Given the description of an element on the screen output the (x, y) to click on. 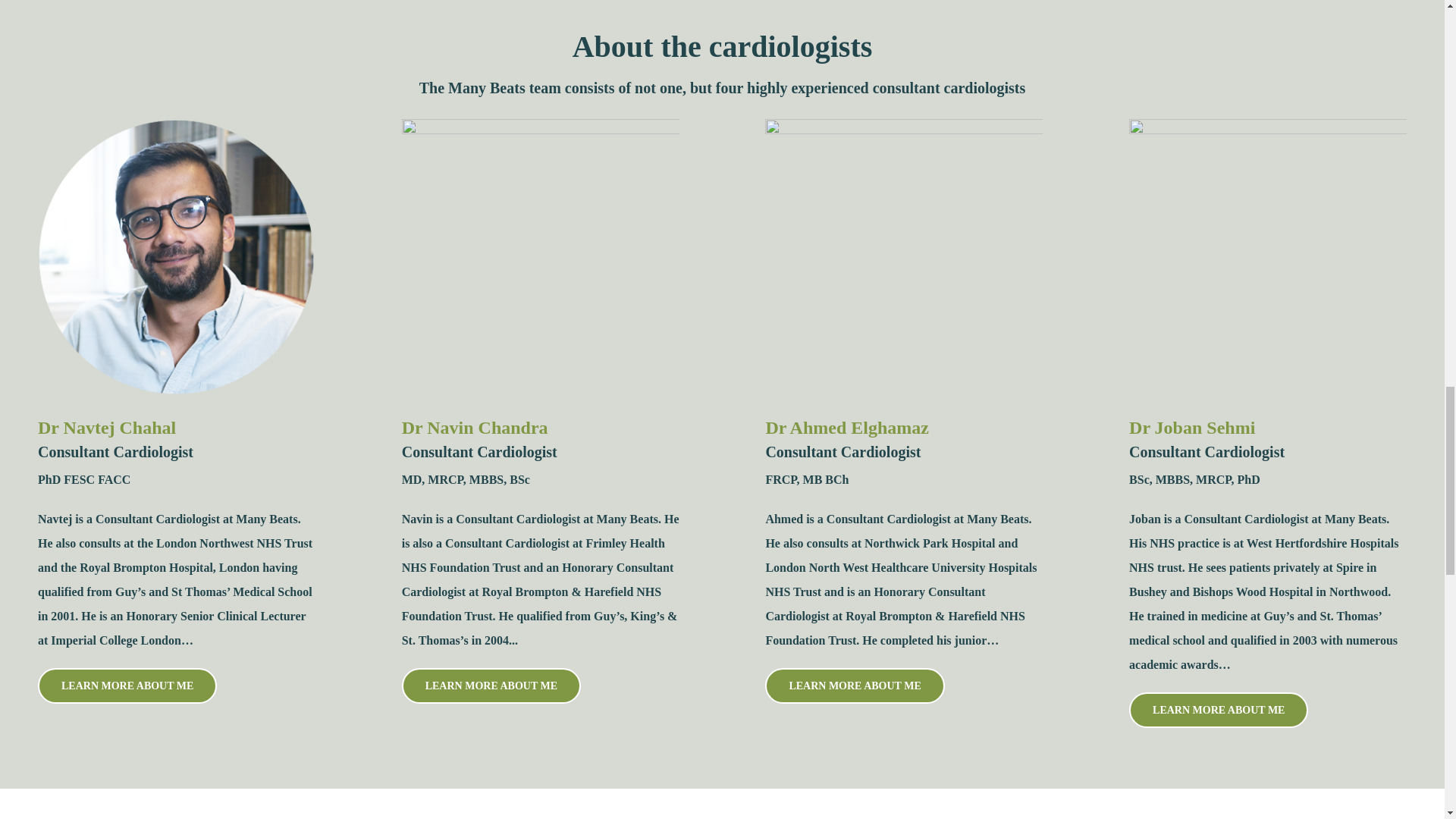
Navtej-Chahal-2-many-beats-london (176, 257)
Joban-Sehmi-2-many-beats-london (1267, 257)
Ahmed-Elghamaz-many-beats-london (903, 257)
Navin-Chandra-many-beats-london (540, 257)
